Given the description of an element on the screen output the (x, y) to click on. 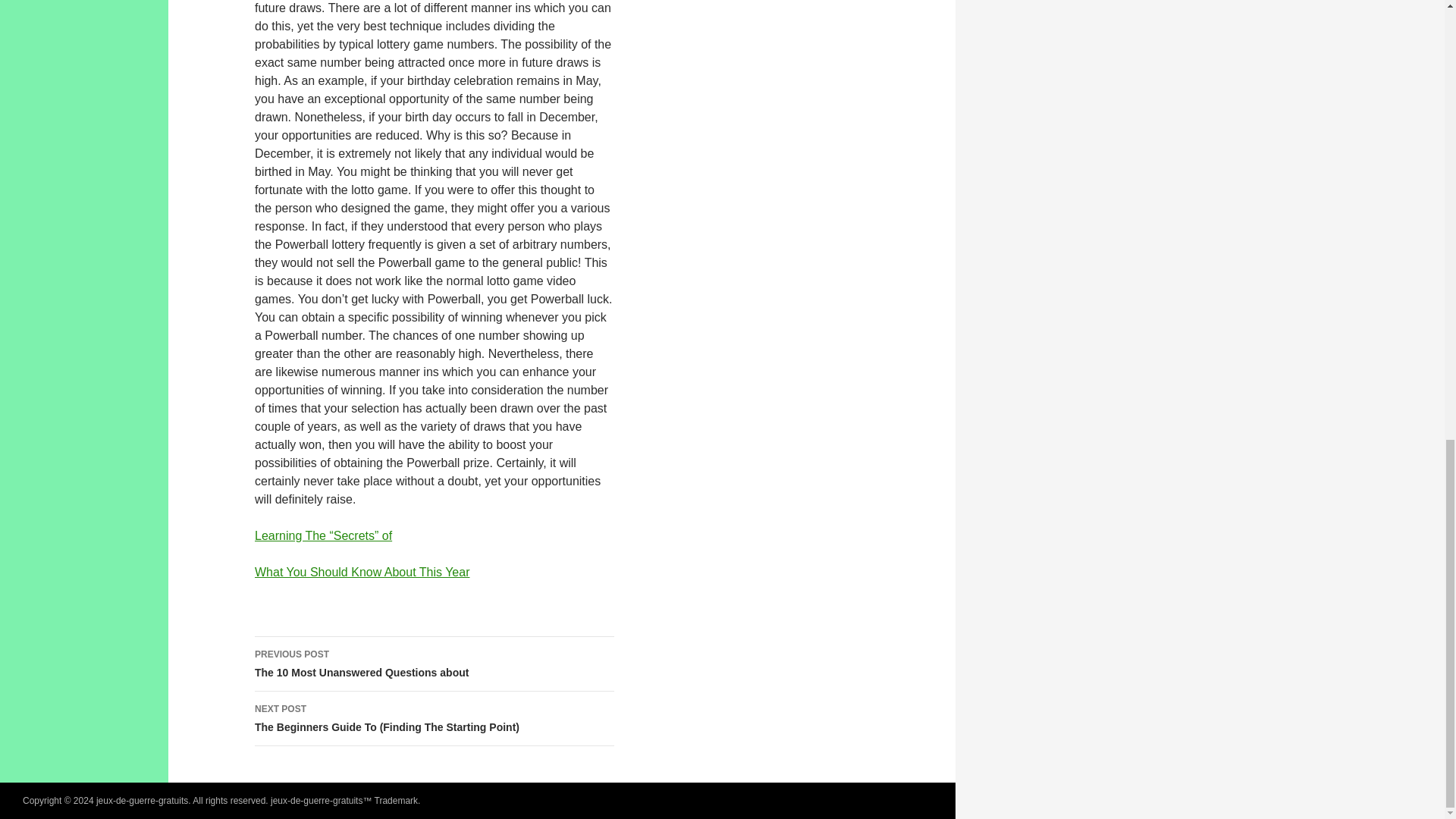
What You Should Know About This Year (434, 664)
